Given the description of an element on the screen output the (x, y) to click on. 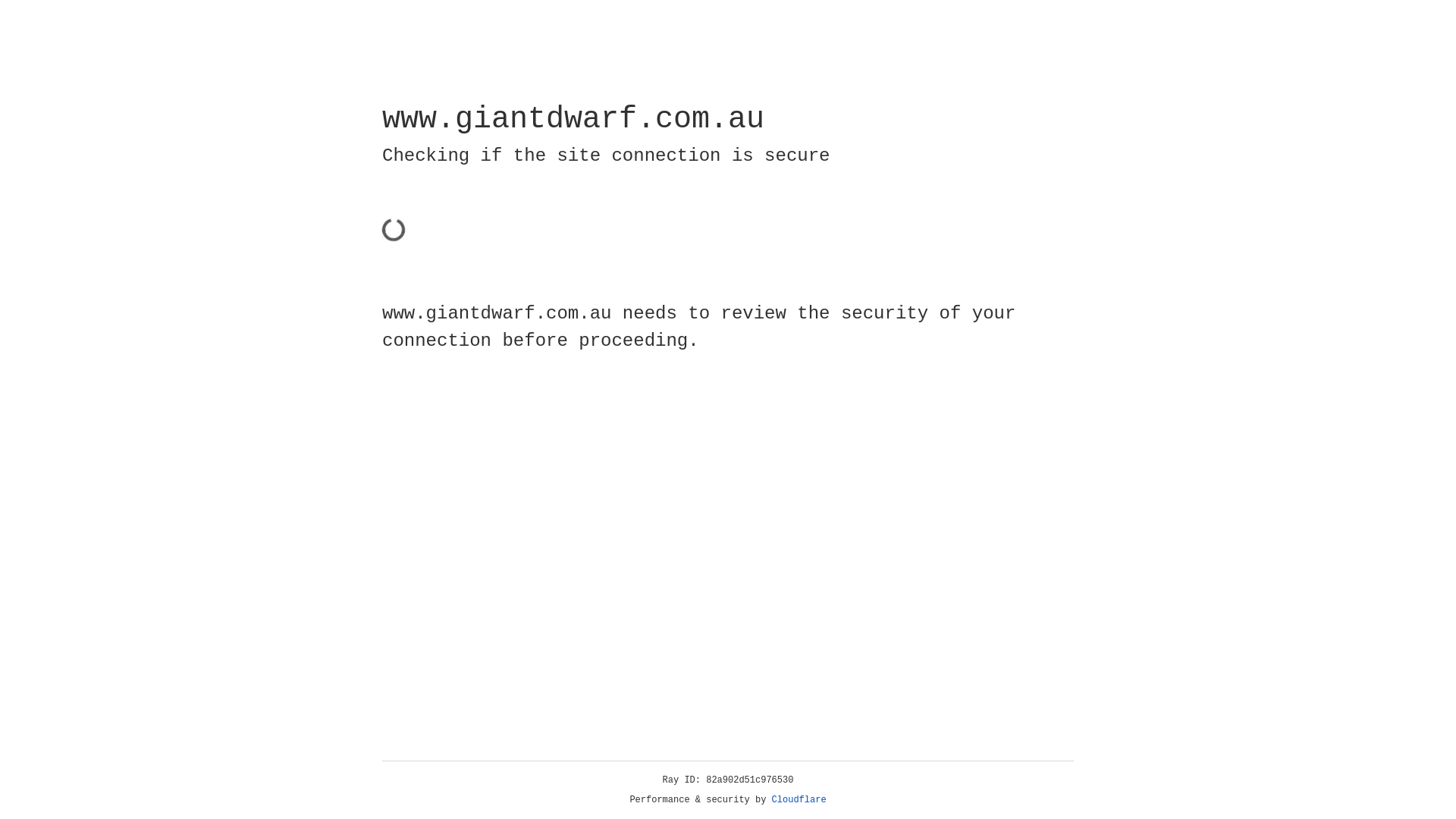
Cloudflare Element type: text (798, 799)
